Given the description of an element on the screen output the (x, y) to click on. 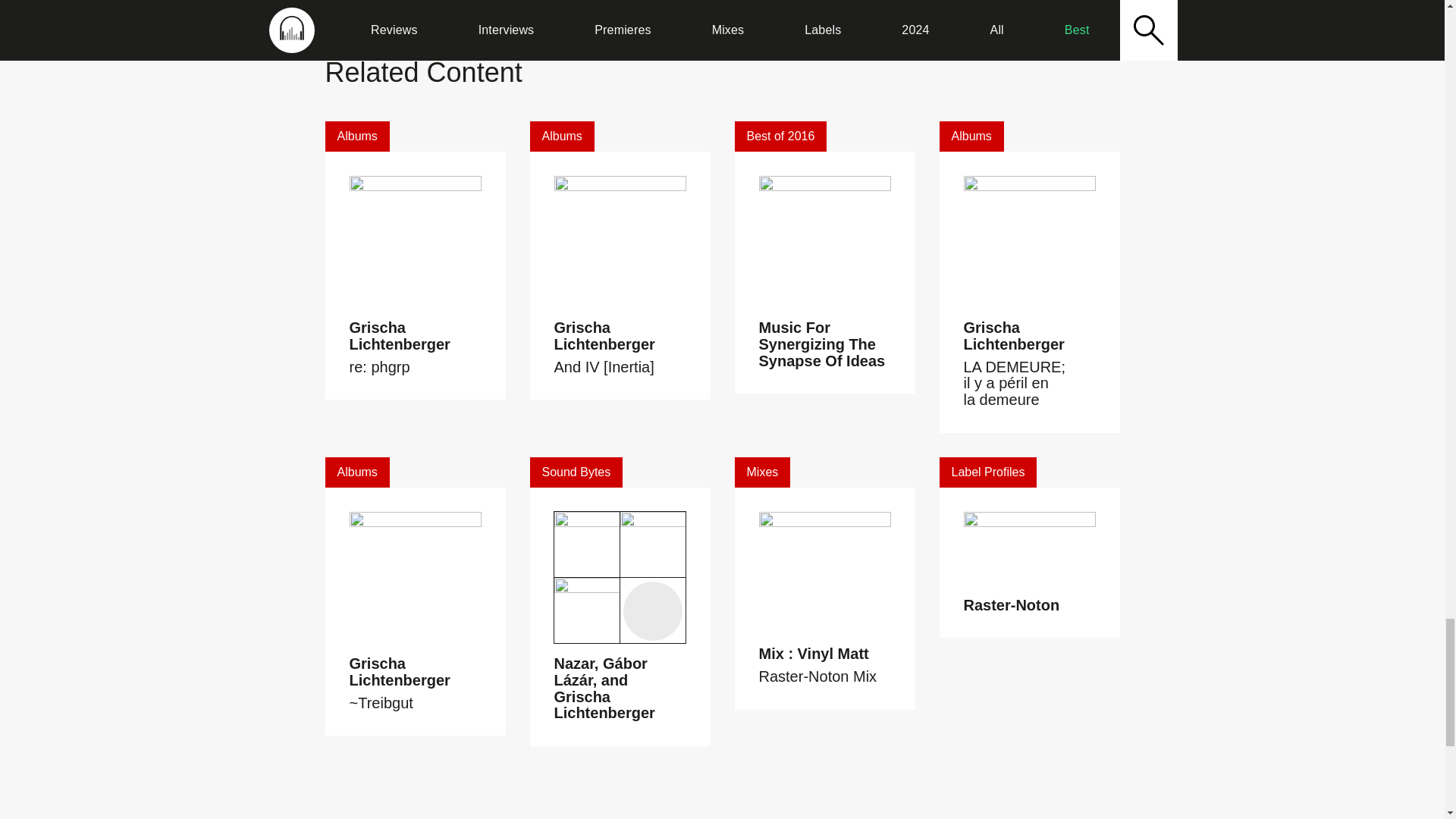
Sound Bytes (576, 472)
Albums (356, 472)
Grischa Lichtenberger (603, 335)
Albums (561, 136)
Music For Synergizing The Synapse Of Ideas (821, 344)
Grischa Lichtenberger (399, 671)
Albums (971, 136)
Grischa Lichtenberger (1013, 335)
Albums (356, 136)
Best of 2016 (780, 136)
re: phgrp (379, 366)
Grischa Lichtenberger (399, 335)
